Given the description of an element on the screen output the (x, y) to click on. 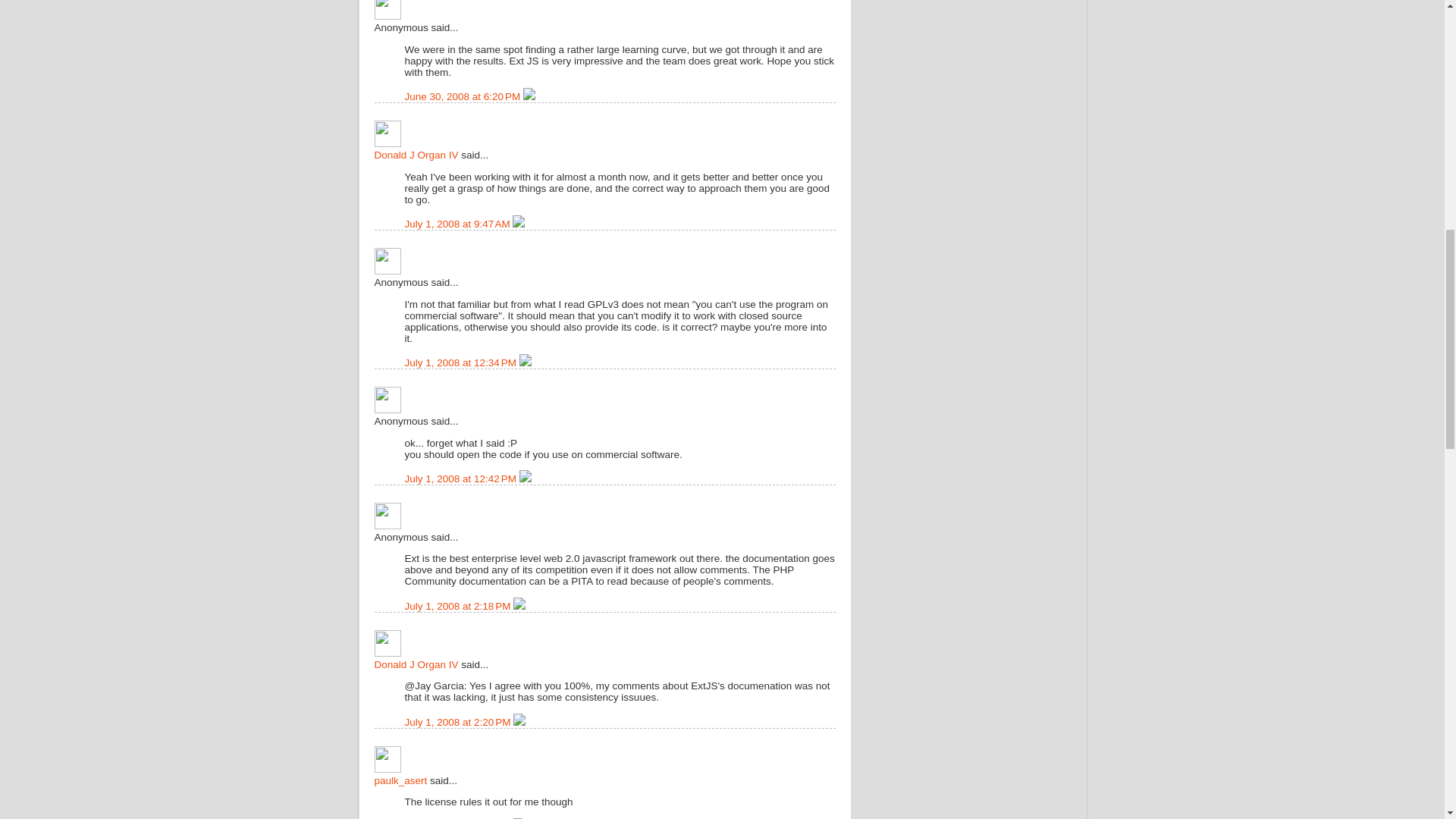
Donald J Organ IV (387, 133)
Donald J Organ IV (416, 664)
Delete Comment (518, 224)
Delete Comment (525, 362)
Delete Comment (528, 96)
Anonymous (387, 261)
comment permalink (458, 224)
comment permalink (461, 478)
comment permalink (464, 96)
Anonymous (387, 399)
Anonymous (387, 9)
